Given the description of an element on the screen output the (x, y) to click on. 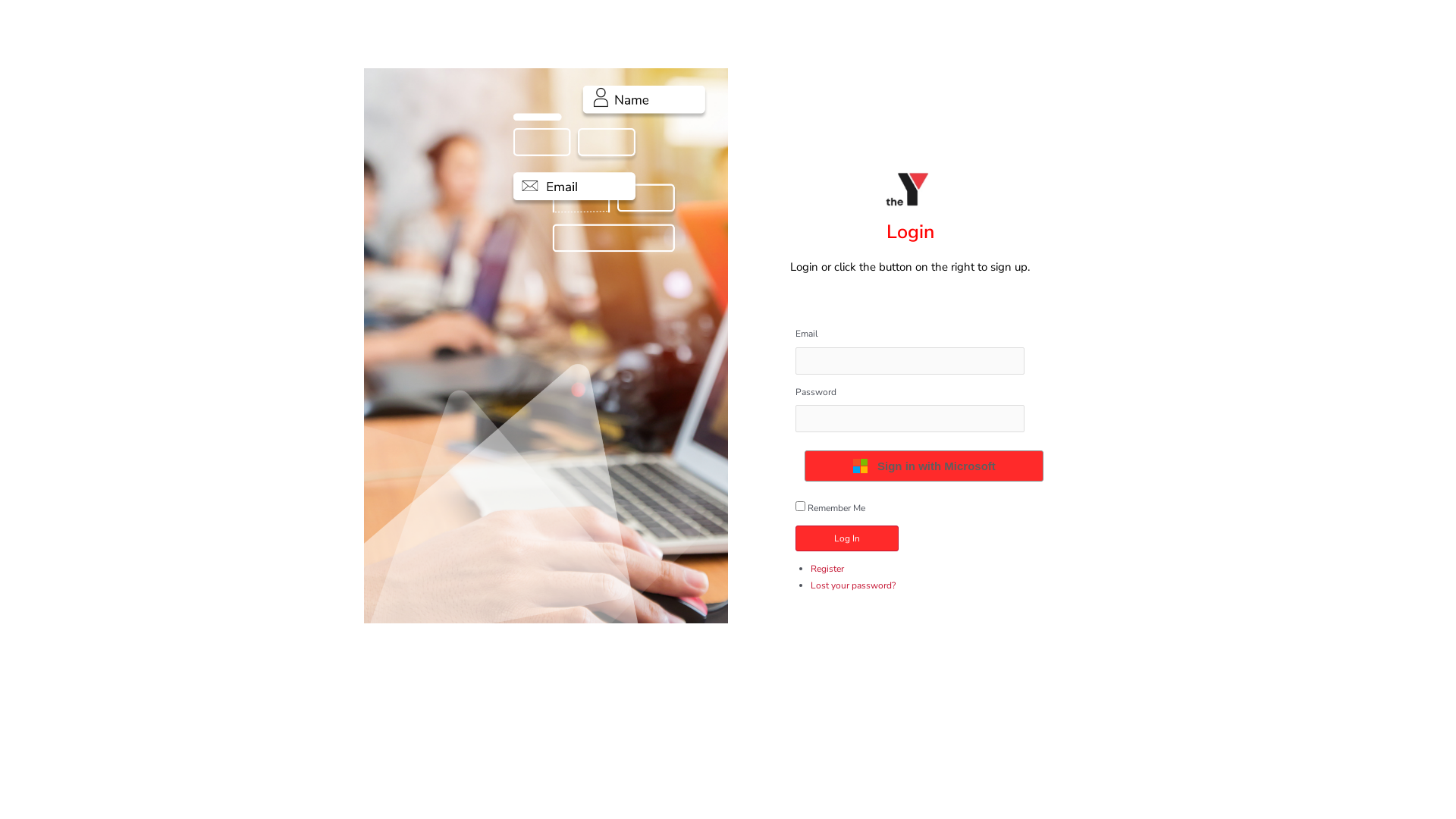
Lost your password? Element type: text (852, 585)
Sign in with Microsoft Element type: text (923, 465)
Log In Element type: text (846, 538)
Register Element type: text (827, 568)
